Given the description of an element on the screen output the (x, y) to click on. 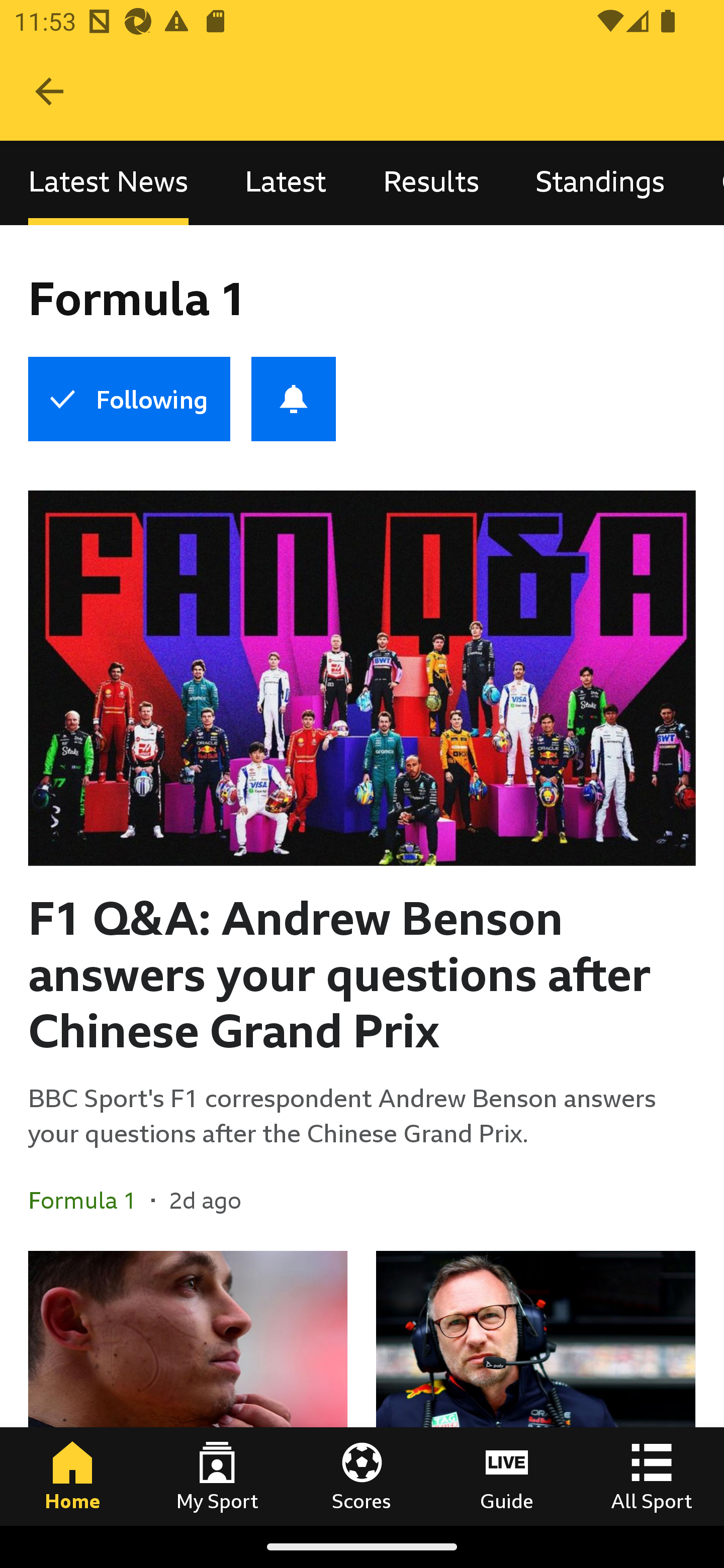
Navigate up (49, 91)
Latest News, selected Latest News (108, 183)
Latest (285, 183)
Results (430, 183)
Standings (600, 183)
Following Formula 1 Following (129, 398)
Push notifications for Formula 1 (293, 398)
Horner criticises Wolff over Verstappen comments (535, 1388)
My Sport (216, 1475)
Scores (361, 1475)
Guide (506, 1475)
All Sport (651, 1475)
